Given the description of an element on the screen output the (x, y) to click on. 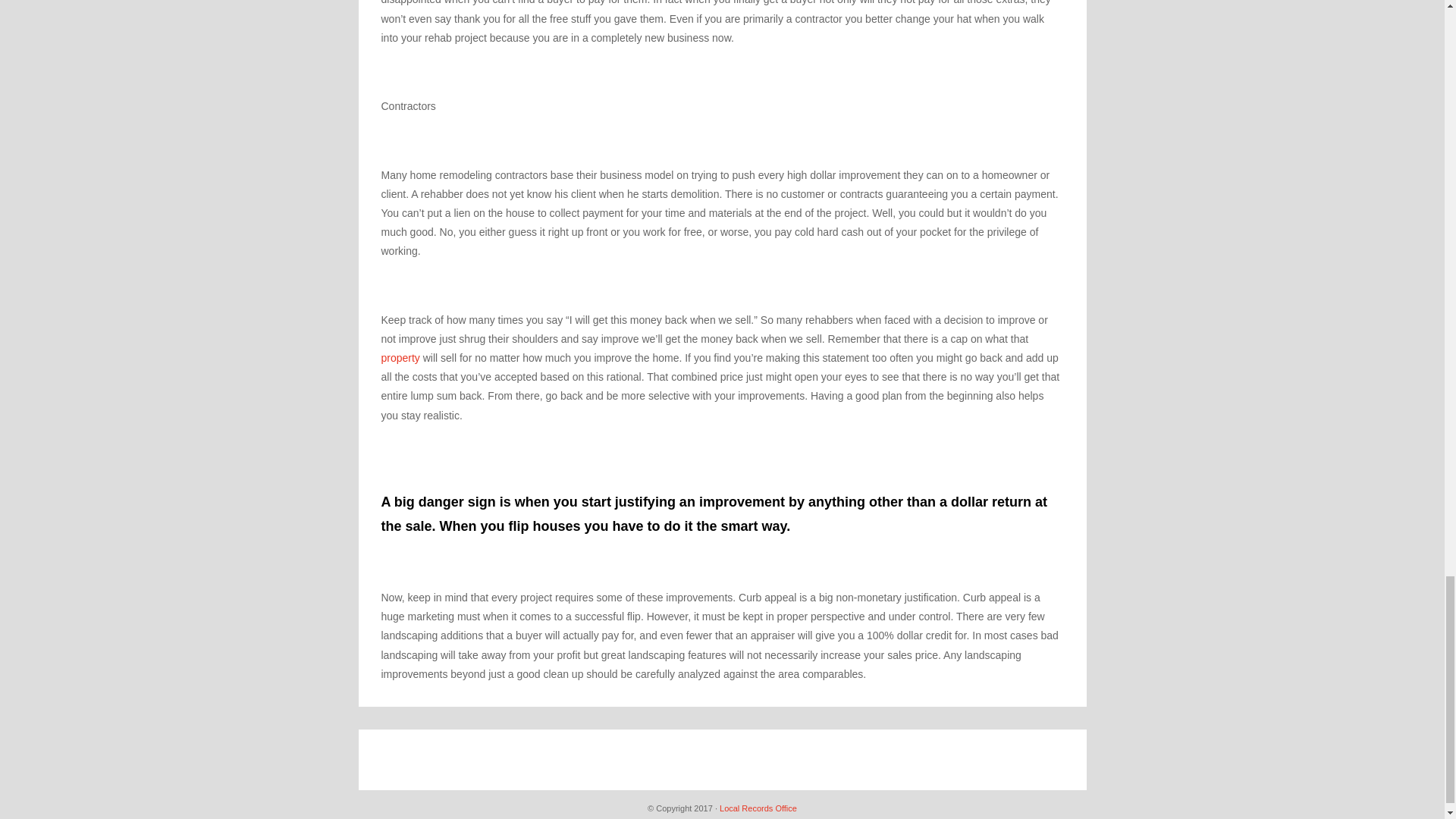
Local Records Office (757, 808)
property (401, 357)
Local Records Office (757, 808)
